Given the description of an element on the screen output the (x, y) to click on. 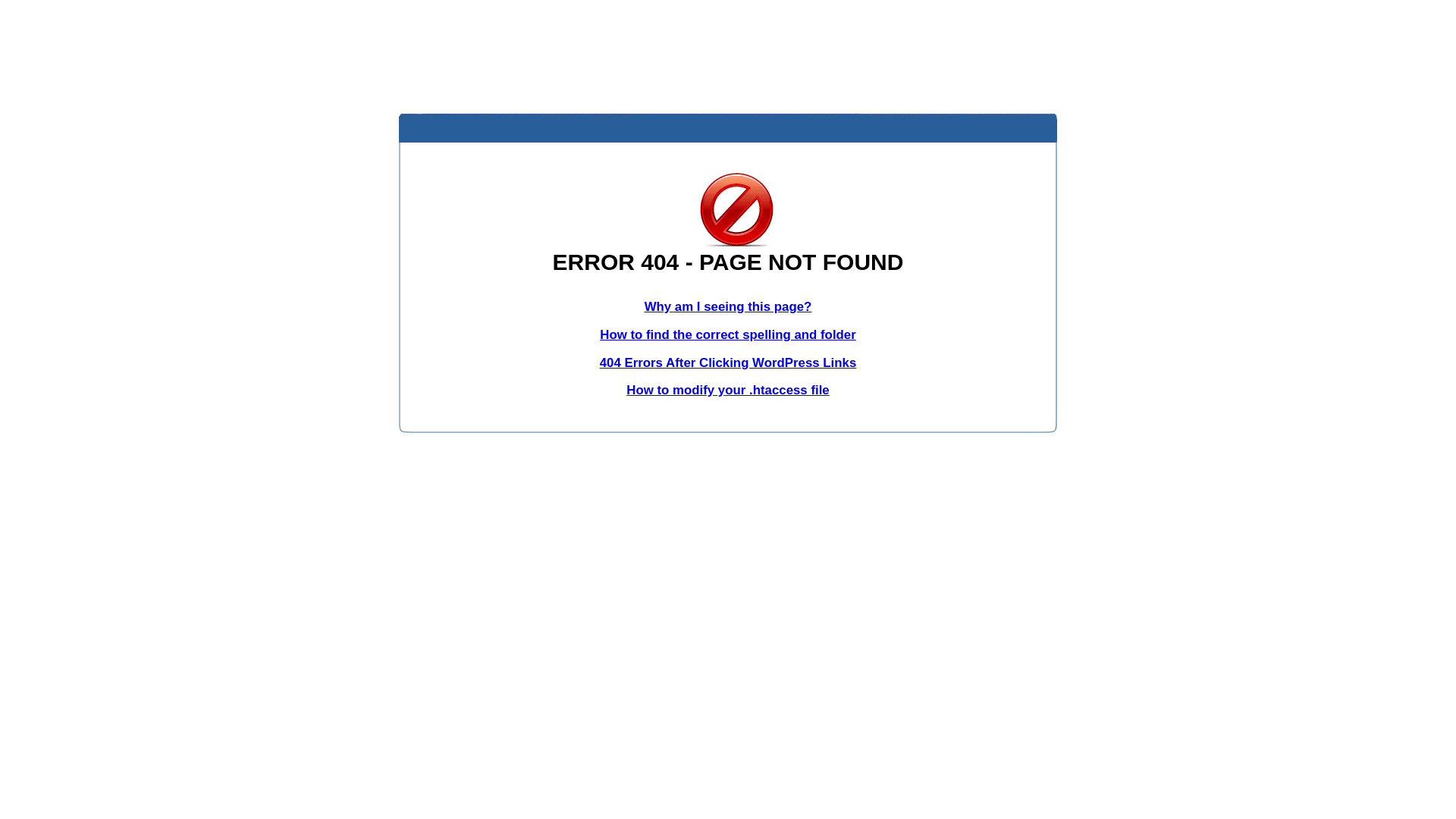
404 Errors After Clicking WordPress Links Element type: text (727, 362)
How to find the correct spelling and folder Element type: text (727, 334)
Why am I seeing this page? Element type: text (728, 306)
How to modify your .htaccess file Element type: text (727, 389)
